Given the description of an element on the screen output the (x, y) to click on. 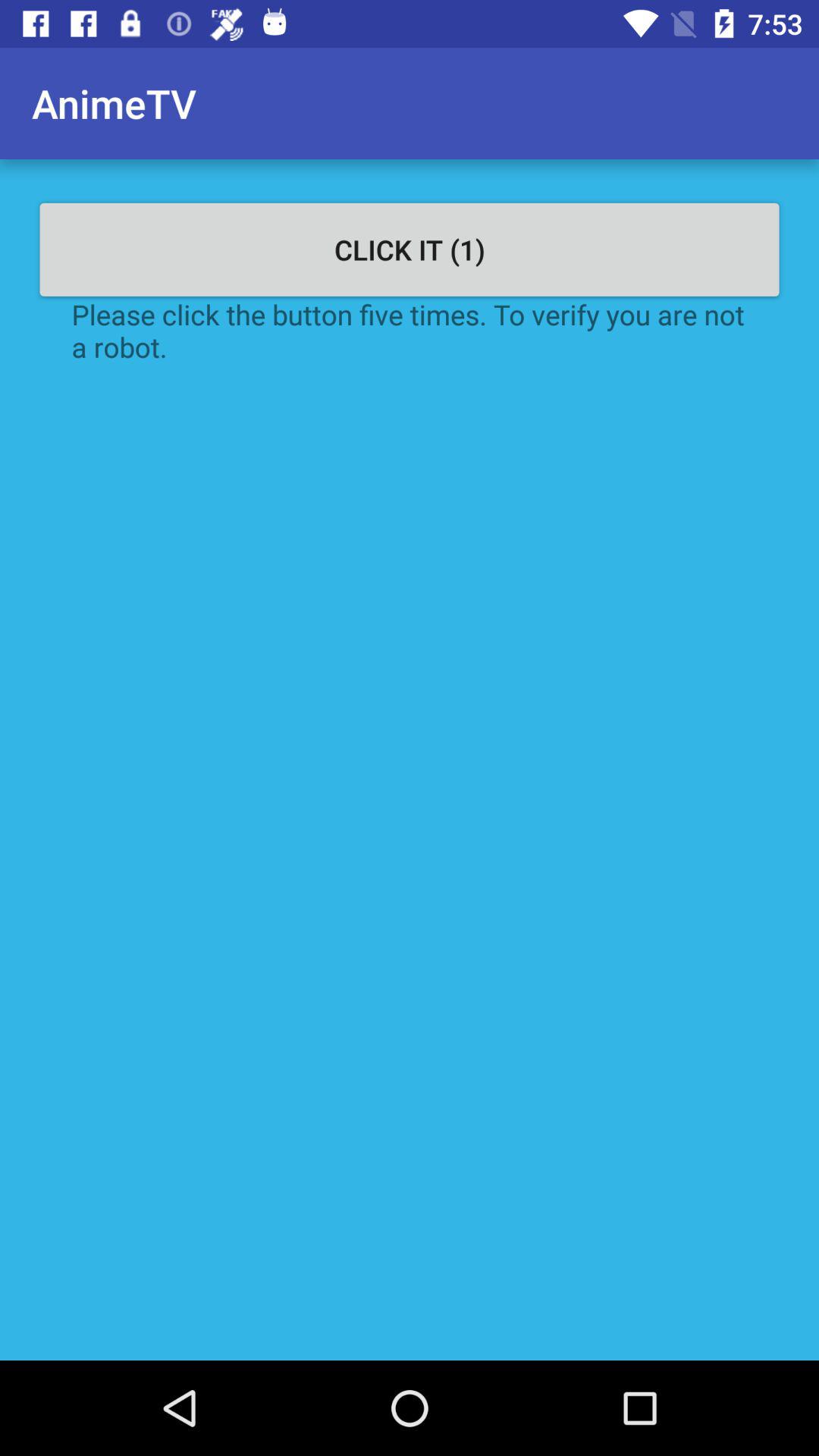
turn off click it (1) icon (409, 249)
